Given the description of an element on the screen output the (x, y) to click on. 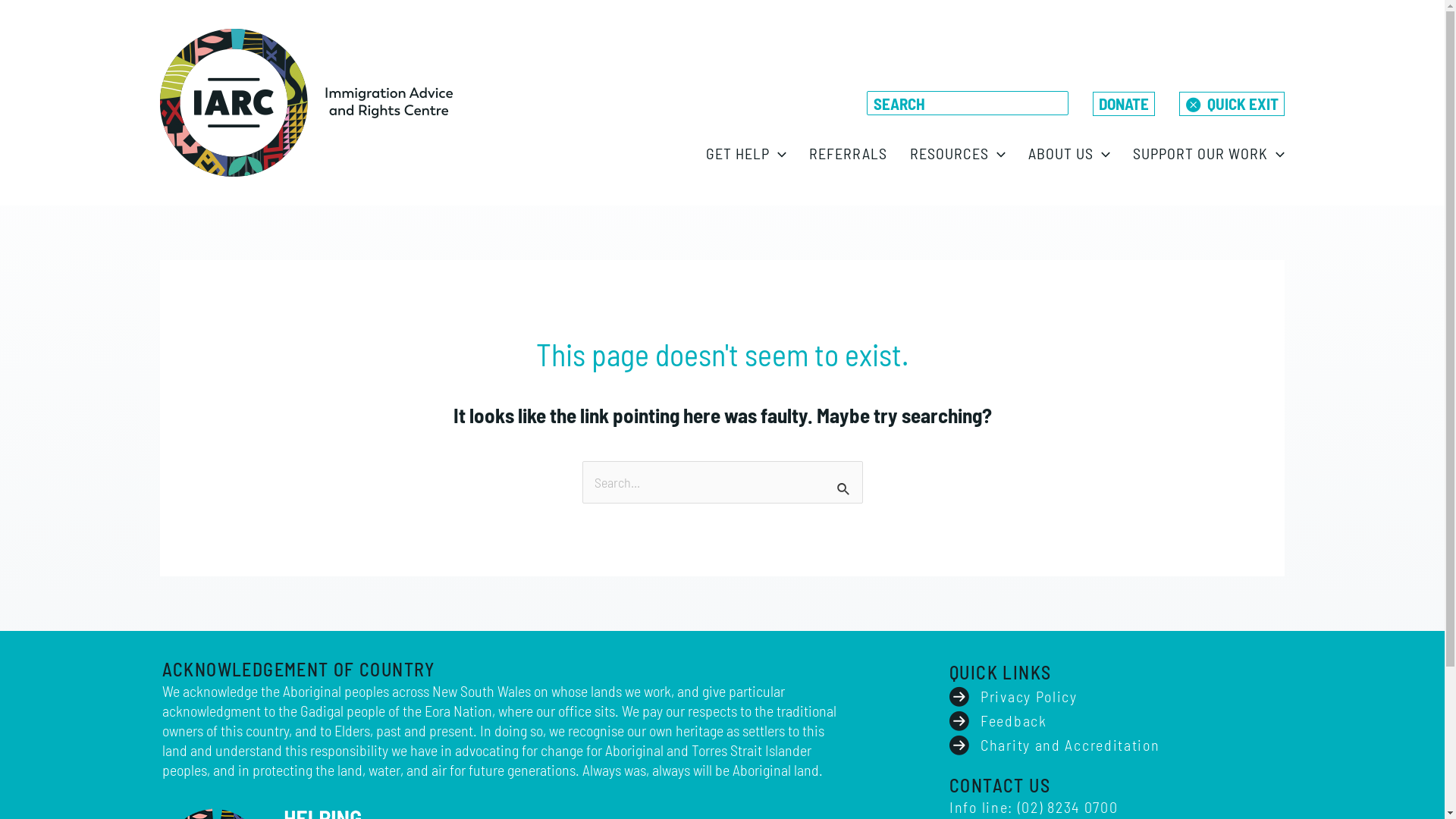
QUICK EXIT Element type: text (1231, 103)
RESOURCES Element type: text (957, 153)
GET HELP Element type: text (746, 153)
DONATE Element type: text (1123, 103)
Search Element type: text (845, 477)
ABOUT US Element type: text (1069, 153)
Feedback Element type: text (998, 720)
REFERRALS Element type: text (848, 153)
Privacy Policy Element type: text (1013, 696)
Charity and Accreditation Element type: text (1054, 744)
SUPPORT OUR WORK Element type: text (1208, 153)
